Given the description of an element on the screen output the (x, y) to click on. 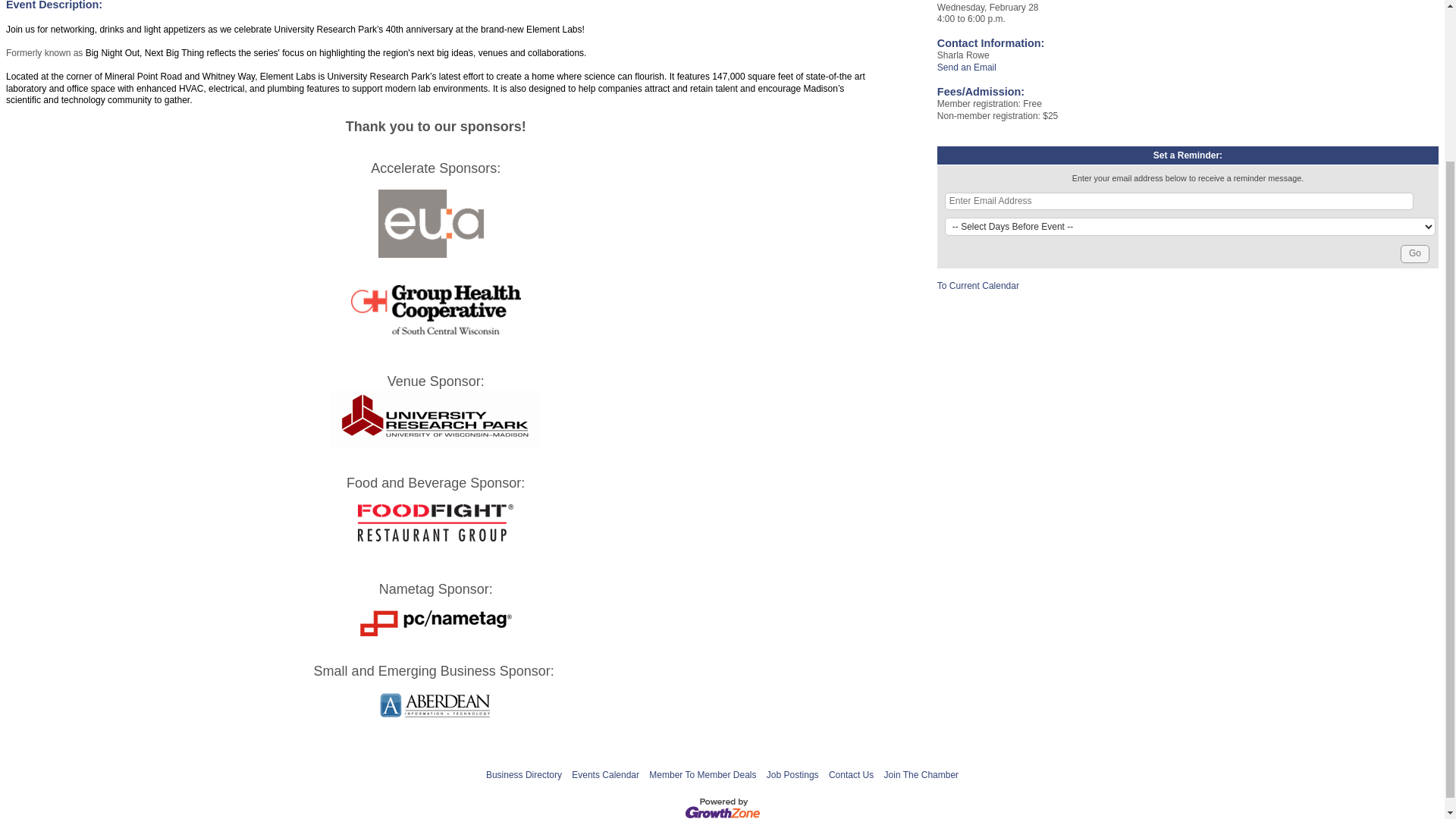
Events Calendar (605, 774)
Member To Member Deals (702, 774)
Go (1414, 253)
Go (1414, 253)
Business Directory (524, 774)
Job Postings (792, 774)
Send an Email (966, 67)
To Current Calendar (978, 285)
Contact Us (850, 774)
Join The Chamber (921, 774)
Enter Email Address (1178, 201)
